Given the description of an element on the screen output the (x, y) to click on. 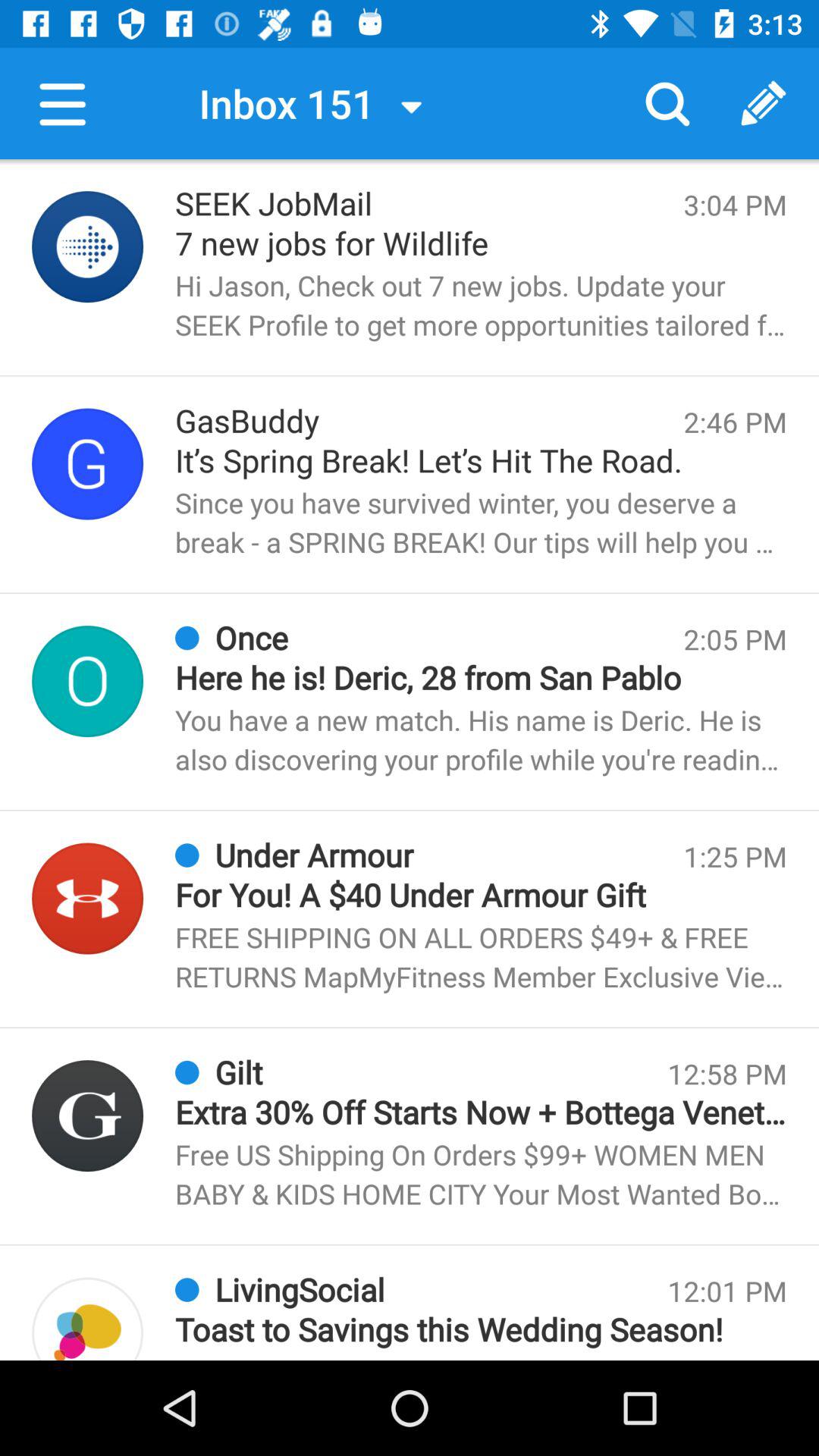
see avatar of sender (87, 1115)
